Given the description of an element on the screen output the (x, y) to click on. 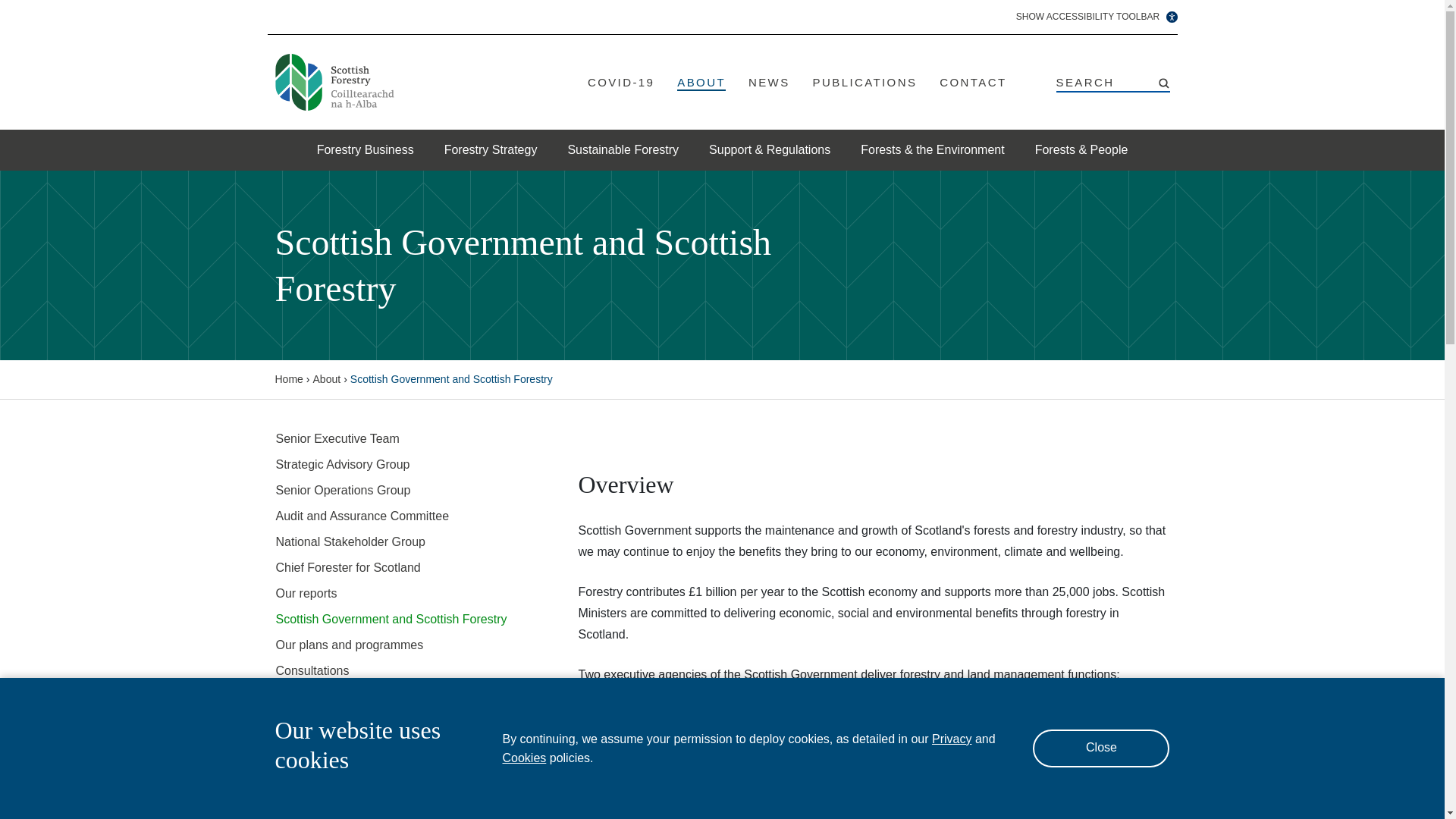
Submit search (1164, 83)
Home (288, 378)
Forestry Business (365, 149)
CONTACT (972, 82)
PUBLICATIONS (864, 82)
Forestry and Land Scotland (670, 740)
Guide to Information (392, 696)
Strategic Advisory Group (392, 464)
Scottish Forestry (334, 82)
SHOW ACCESSIBILITY TOOLBAR (1096, 16)
ABOUT (701, 82)
National Stakeholder Group (392, 542)
Our reports (392, 593)
Consultations (392, 670)
COVID-19 (620, 82)
